Given the description of an element on the screen output the (x, y) to click on. 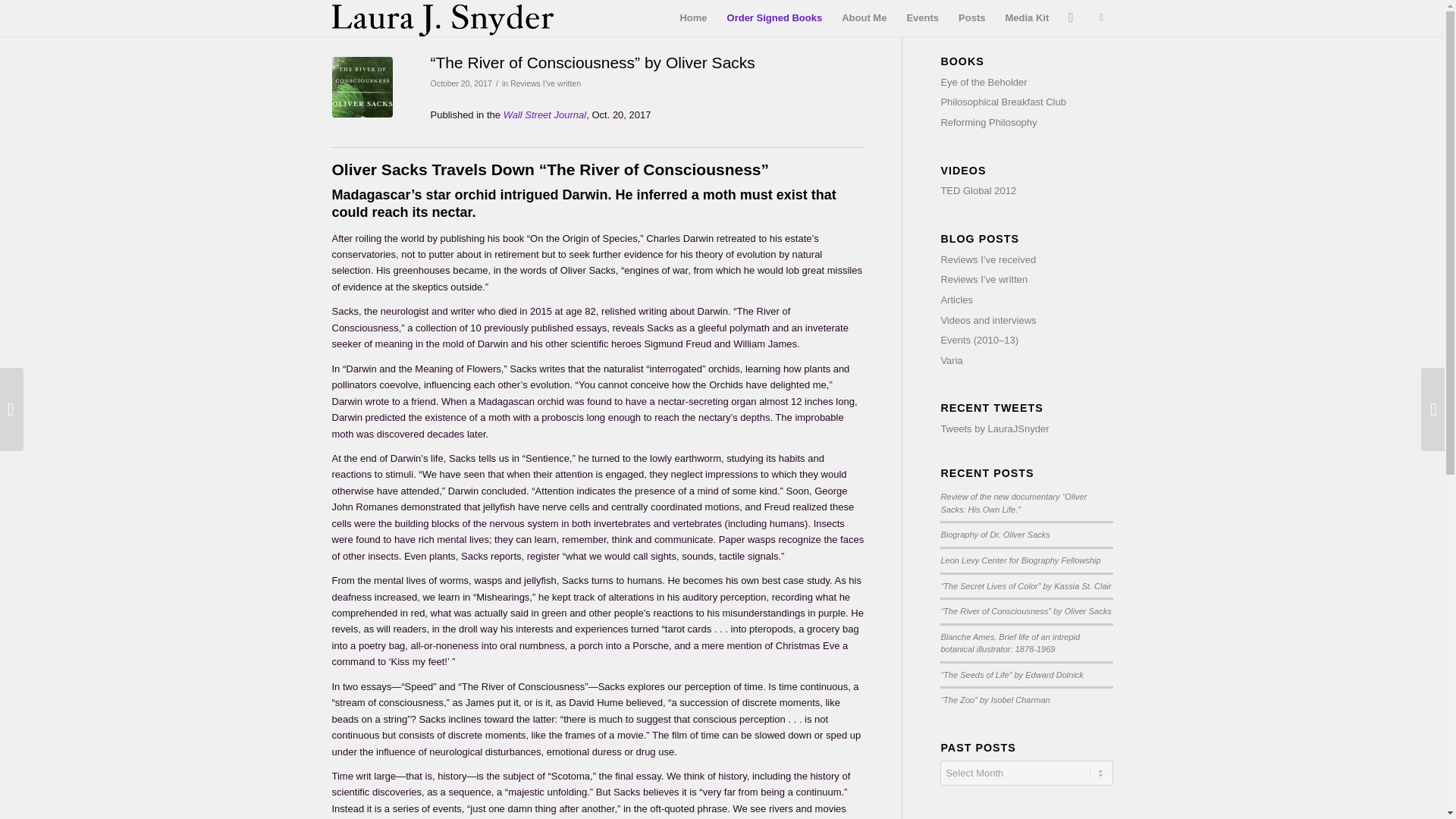
TED Global 2012 (978, 190)
Articles (956, 299)
Twitter (1101, 16)
Events (922, 18)
Order Signed Books (774, 18)
Home (692, 18)
About Me (863, 18)
Varia (951, 360)
Wall Street Journal (544, 114)
Reforming Philosophy (988, 122)
Eye of the Beholder (983, 81)
Tweets by LauraJSnyder (994, 428)
Videos and interviews (987, 319)
River of Consciousness.160x160 (362, 86)
Media Kit (1026, 18)
